Given the description of an element on the screen output the (x, y) to click on. 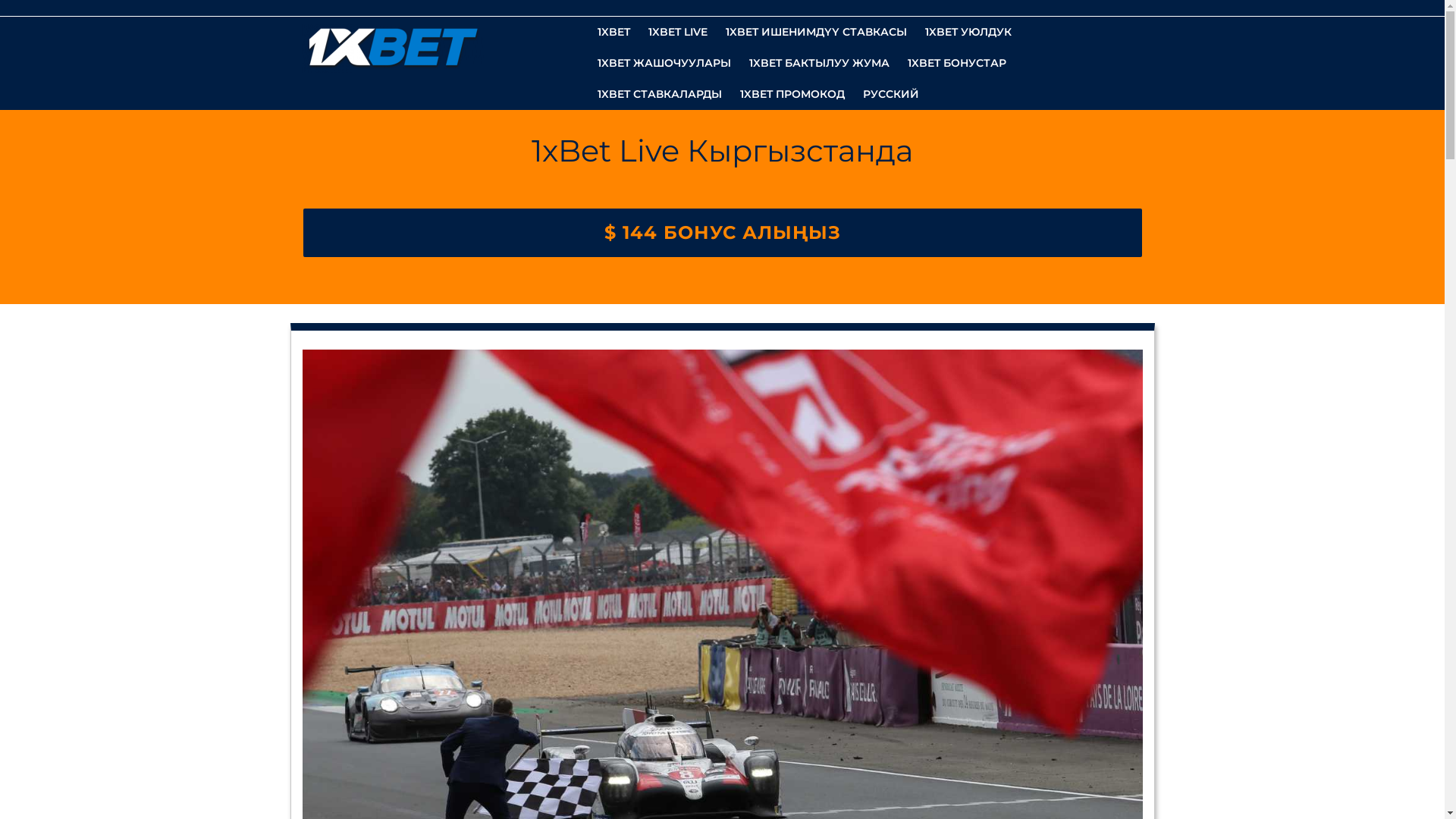
1XBET LIVE Element type: text (677, 31)
1XBET Element type: text (613, 31)
